Given the description of an element on the screen output the (x, y) to click on. 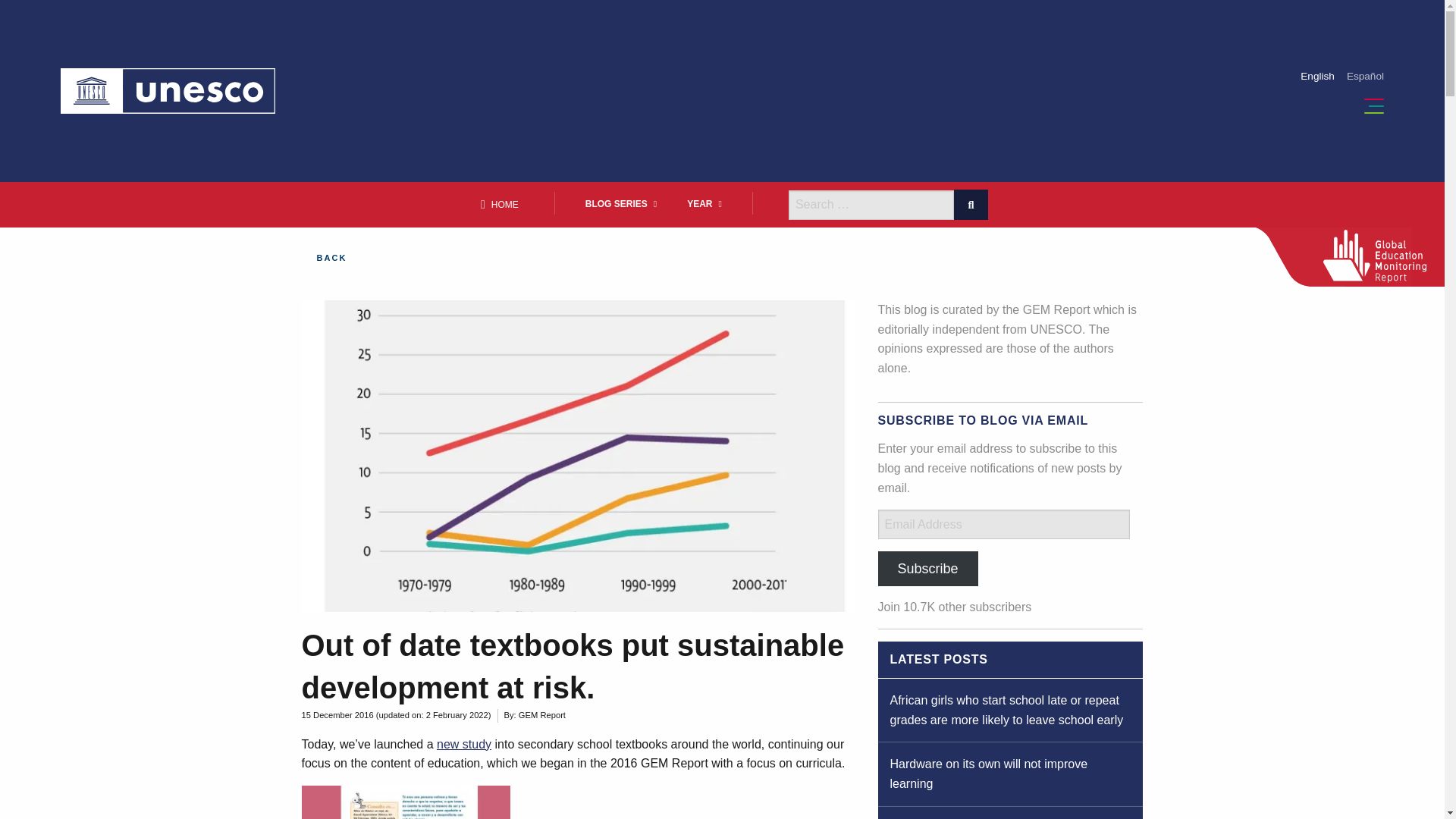
HOME (501, 204)
English (1317, 76)
